Given the description of an element on the screen output the (x, y) to click on. 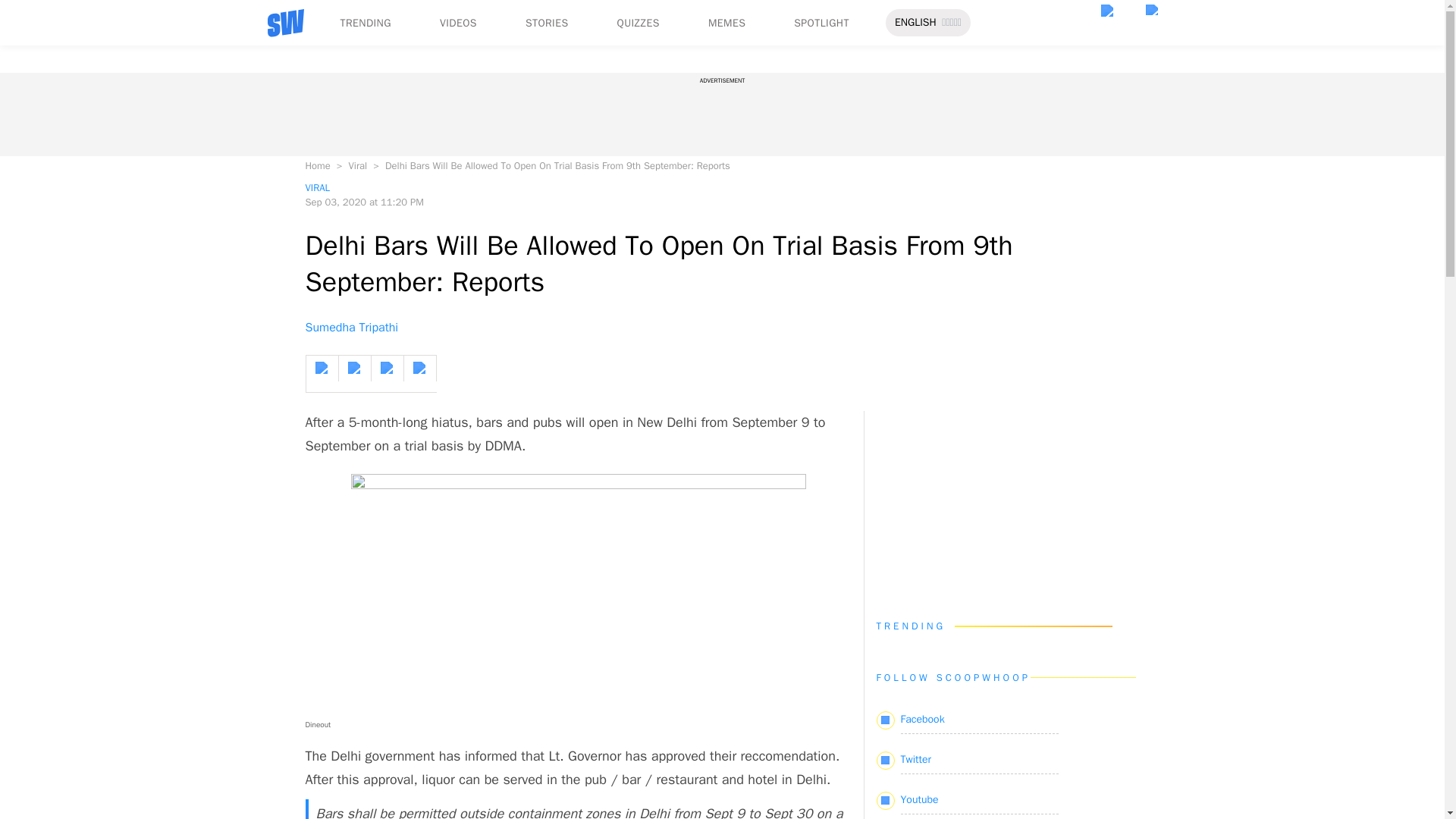
TRENDING (364, 22)
QUIZZES (638, 22)
STORIES (547, 22)
MEMES (726, 22)
SPOTLIGHT (820, 22)
VIDEOS (458, 22)
ENGLISH (915, 22)
